Given the description of an element on the screen output the (x, y) to click on. 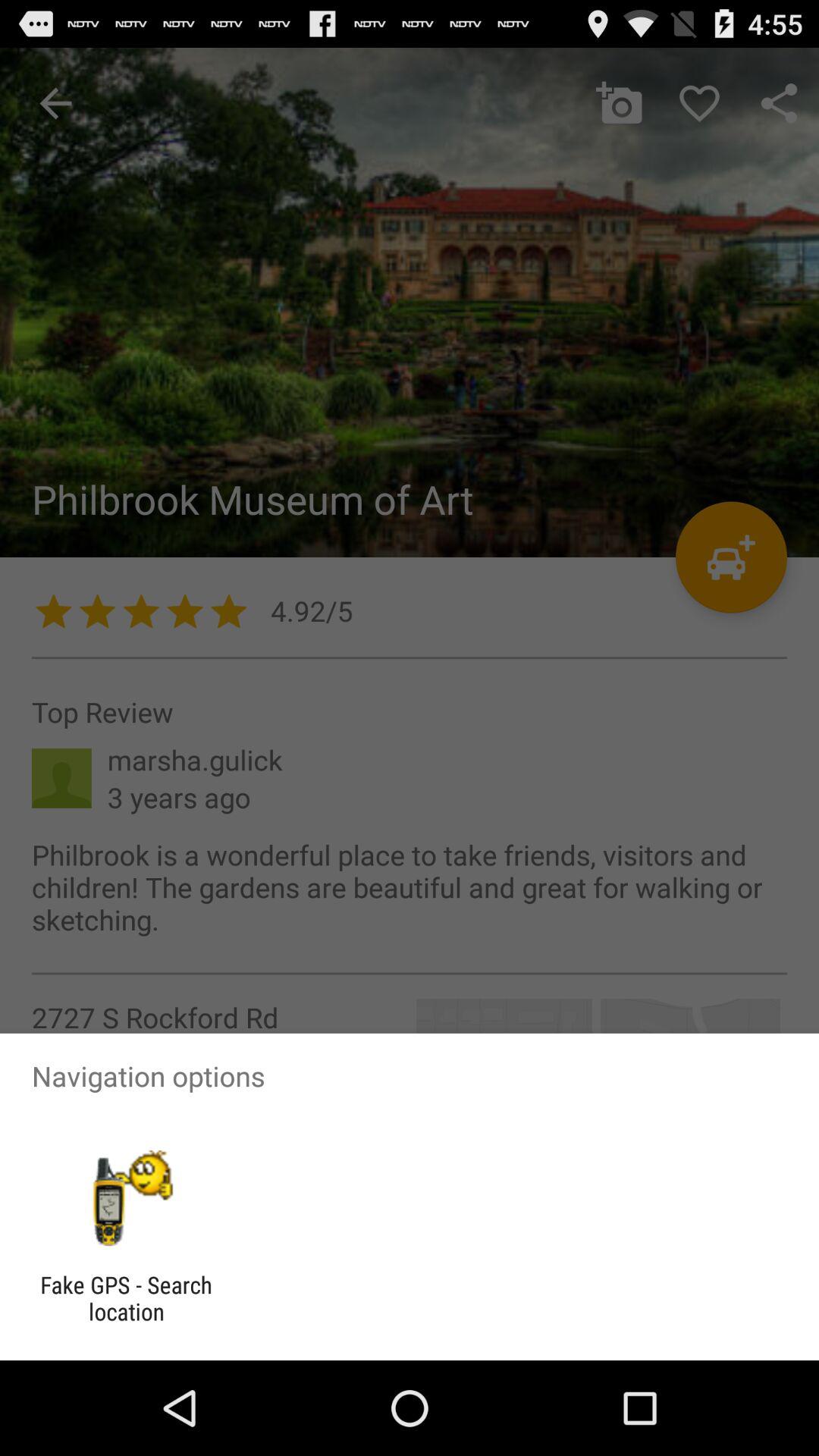
swipe to the fake gps search icon (125, 1298)
